Given the description of an element on the screen output the (x, y) to click on. 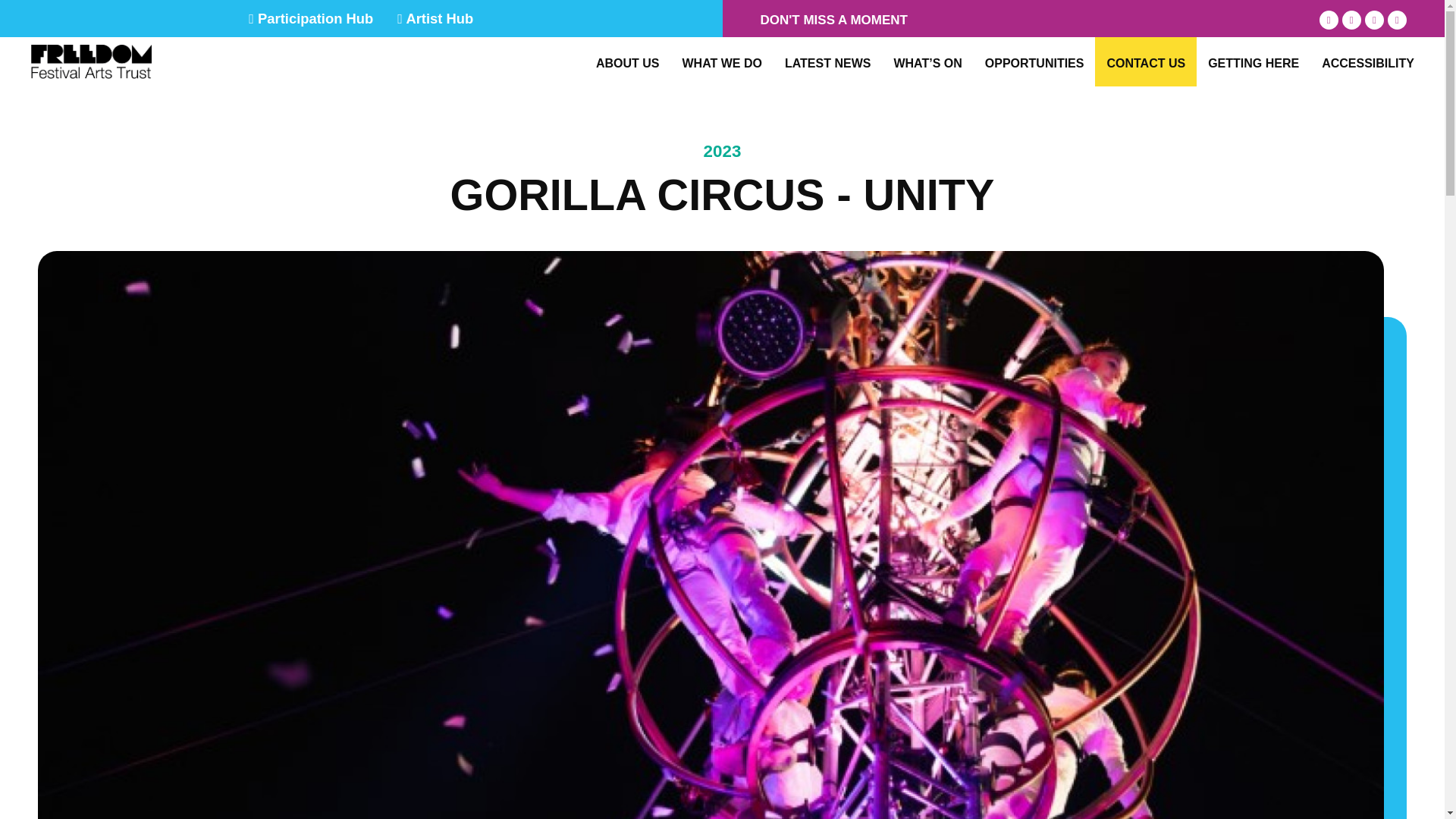
ACCESSIBILITY (1367, 63)
CONTACT US (1145, 63)
ABOUT US (627, 63)
LATEST NEWS (827, 63)
WHAT WE DO (721, 63)
Participation Hub (310, 19)
GETTING HERE (1253, 63)
OPPORTUNITIES (1034, 63)
Artist Hub (434, 19)
